Given the description of an element on the screen output the (x, y) to click on. 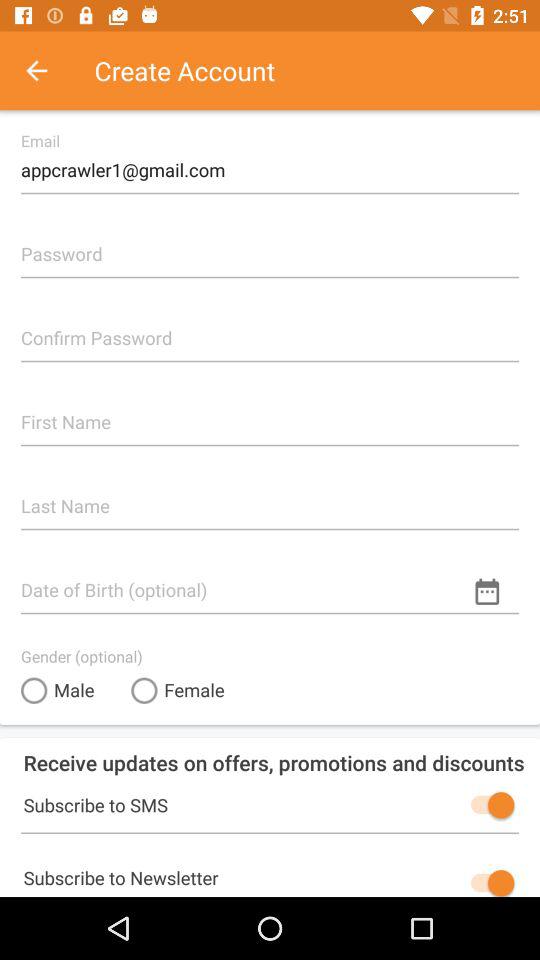
space for birthdate (270, 581)
